Given the description of an element on the screen output the (x, y) to click on. 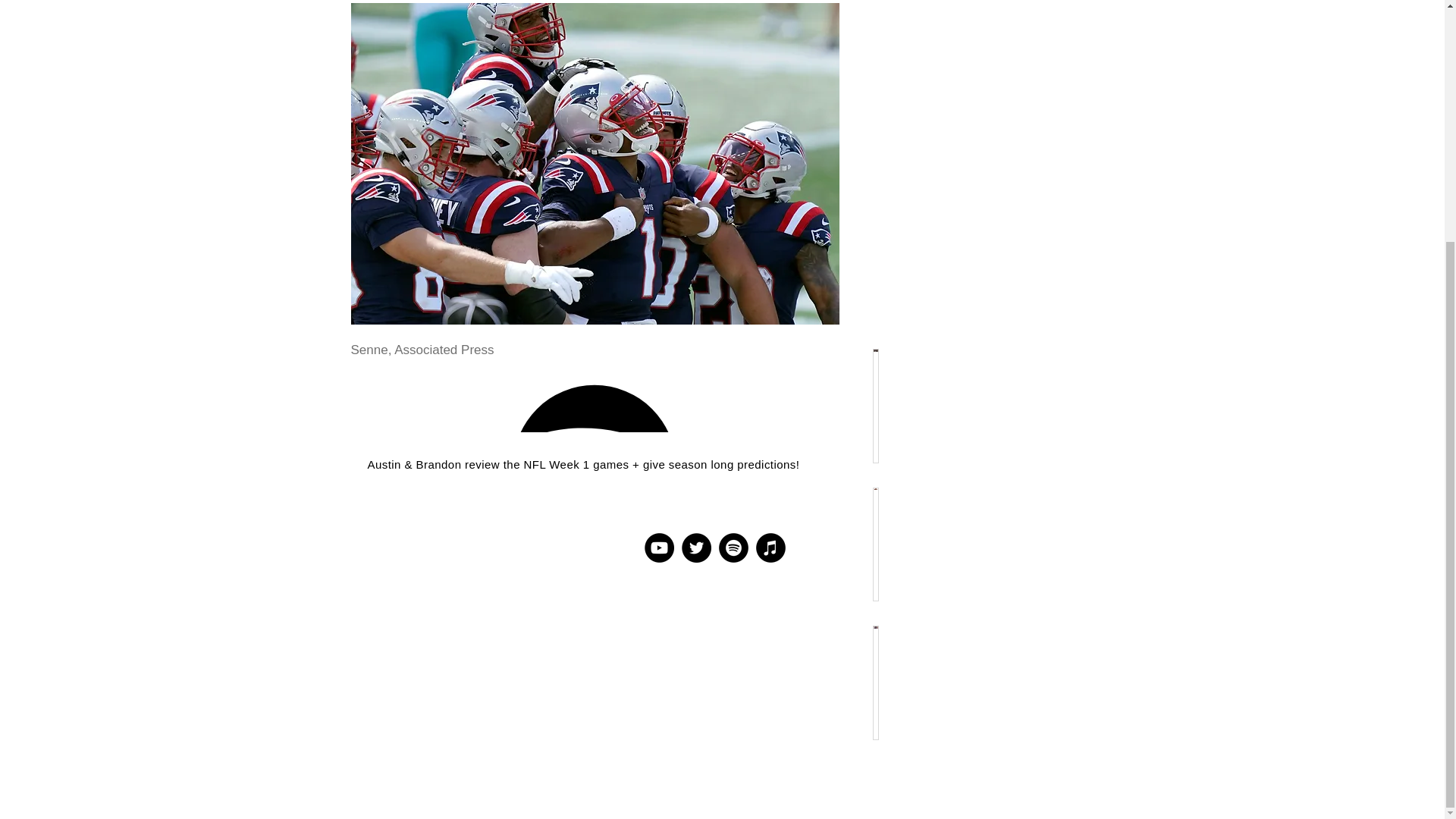
Spotify Player (593, 402)
Spotify Player (593, 401)
